Given the description of an element on the screen output the (x, y) to click on. 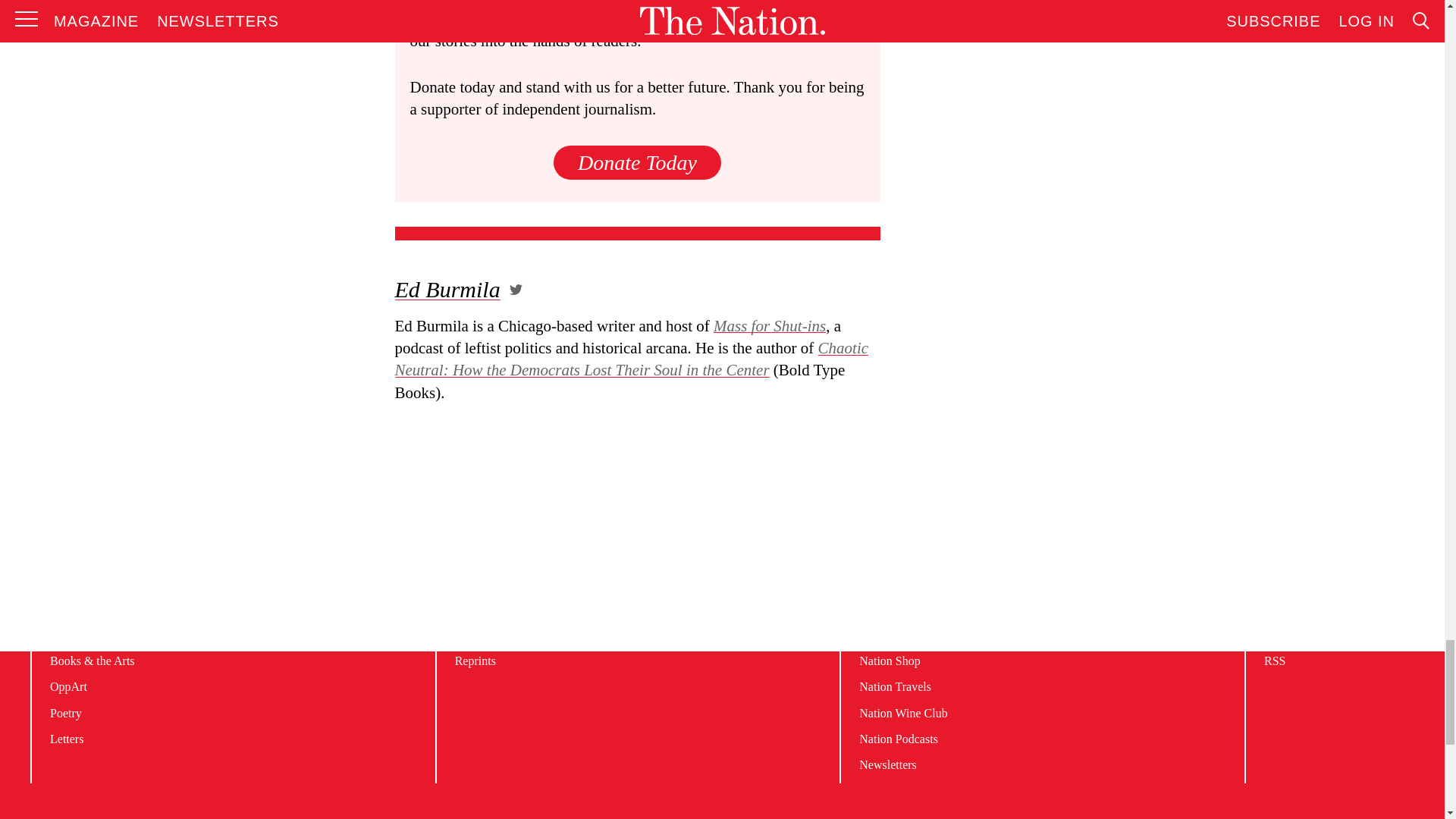
Donate Today (636, 162)
